Given the description of an element on the screen output the (x, y) to click on. 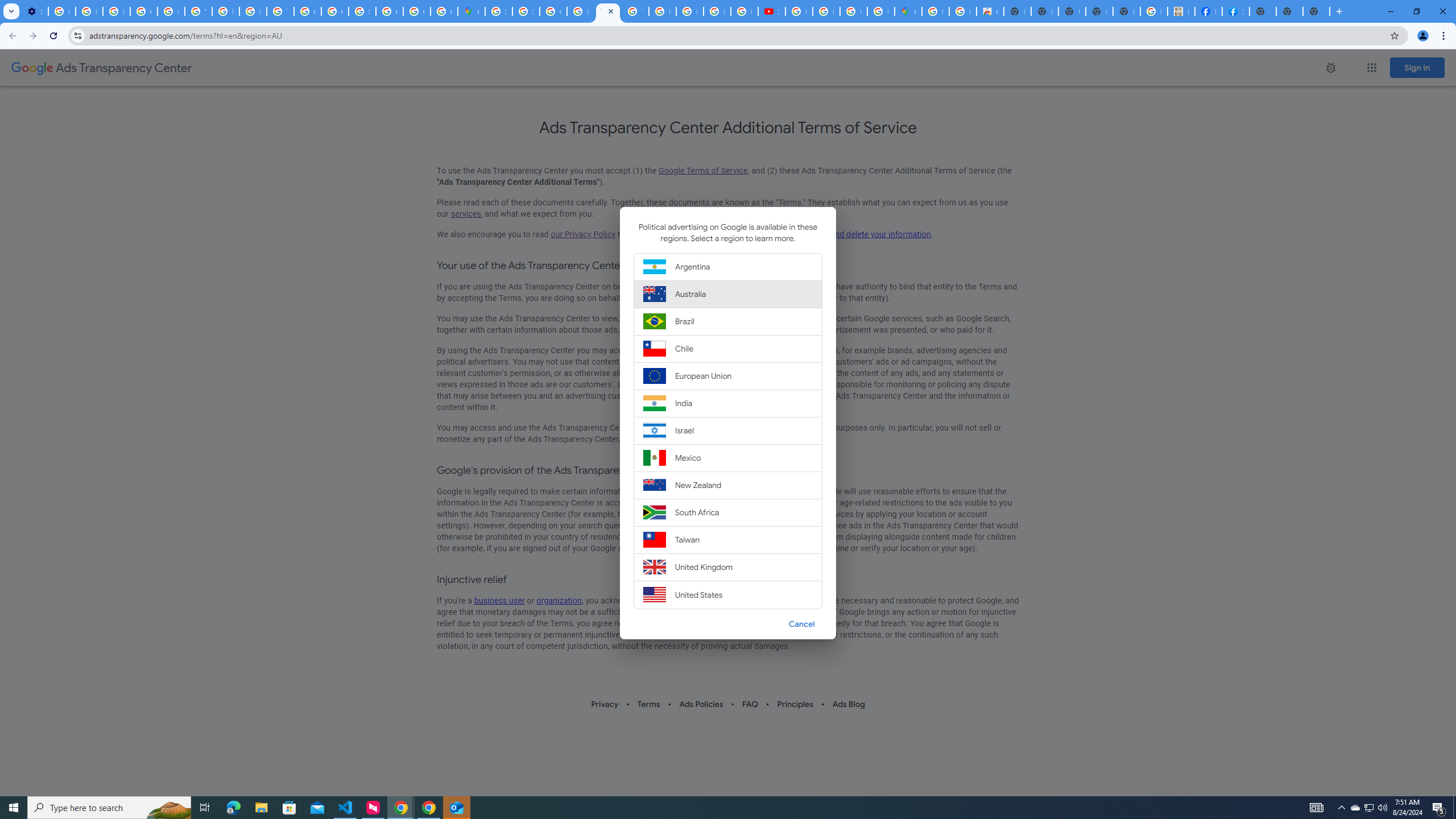
Sign Up for Facebook (1236, 11)
Miley Cyrus | Facebook (1208, 11)
United States (727, 594)
Google Maps (471, 11)
Chrome Web Store - Shopping (990, 11)
Delete photos & videos - Computer - Google Photos Help (61, 11)
Google Terms of Service (703, 171)
Privacy Help Center - Policies Help (690, 11)
